Given the description of an element on the screen output the (x, y) to click on. 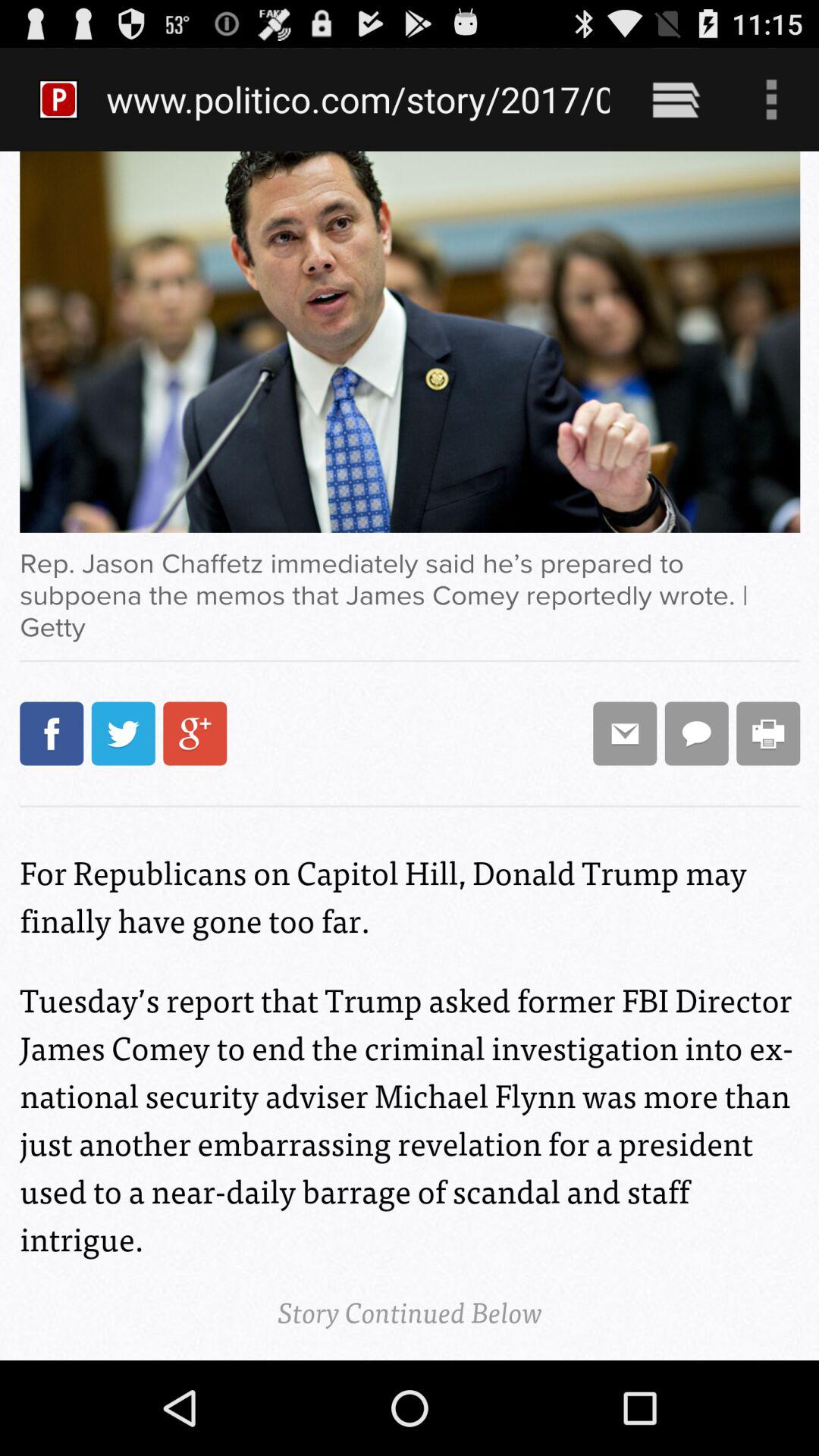
jump to www politico com item (357, 99)
